Given the description of an element on the screen output the (x, y) to click on. 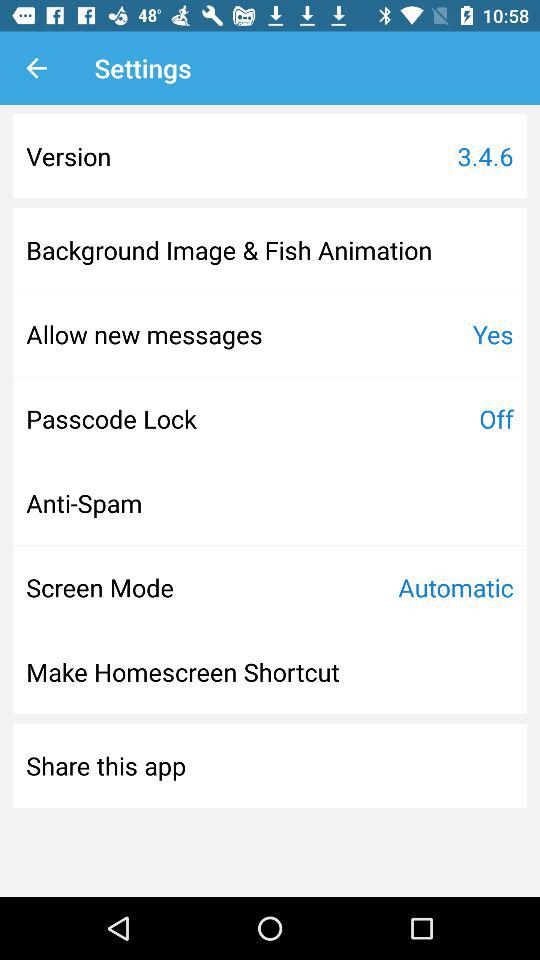
tap icon next to version icon (485, 156)
